Given the description of an element on the screen output the (x, y) to click on. 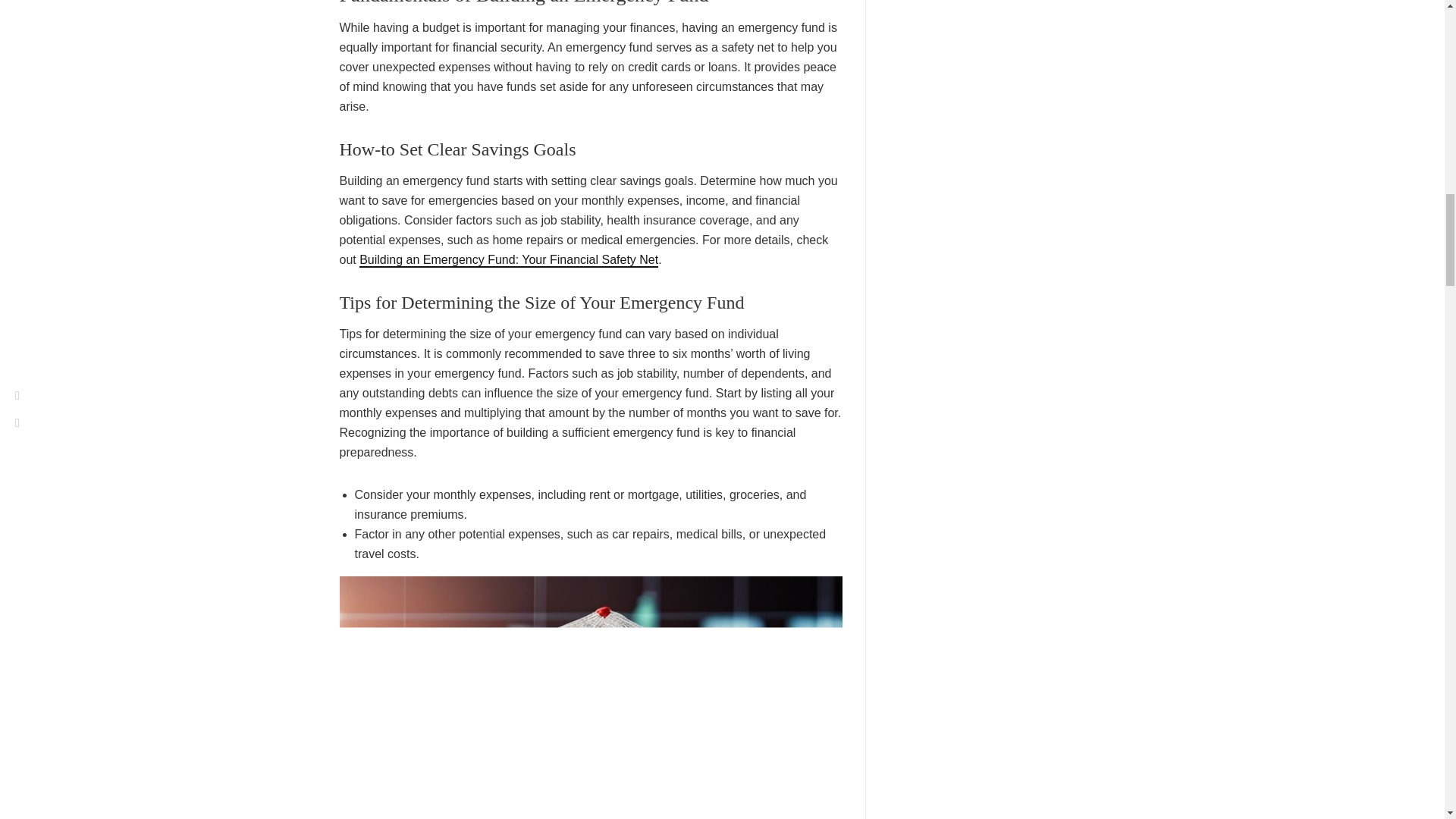
Building an Emergency Fund: Your Financial Safety Net (508, 260)
